Given the description of an element on the screen output the (x, y) to click on. 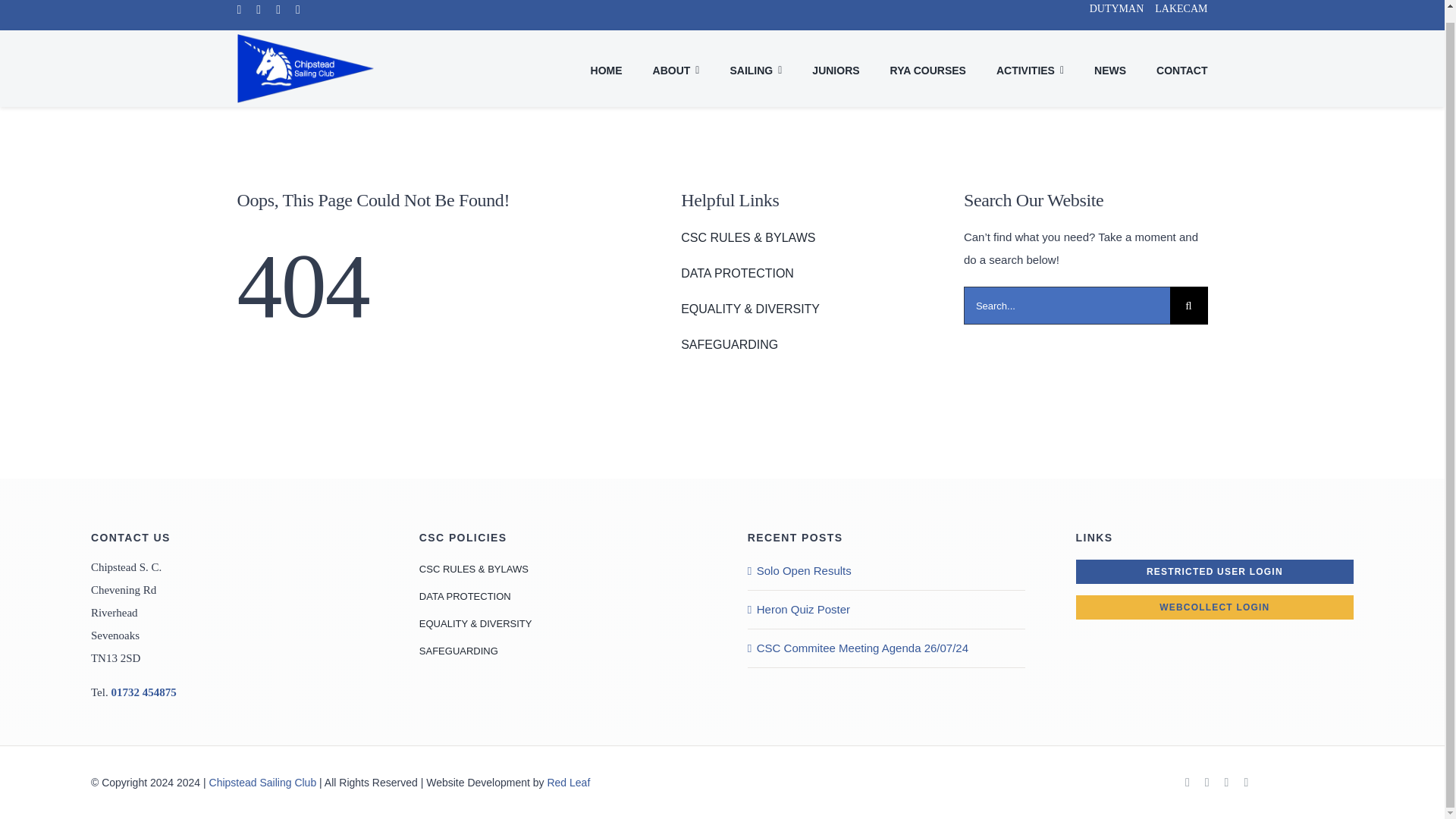
ABOUT (676, 67)
DUTYMAN (1110, 15)
LAKECAM (1180, 15)
SAILING (755, 67)
